Given the description of an element on the screen output the (x, y) to click on. 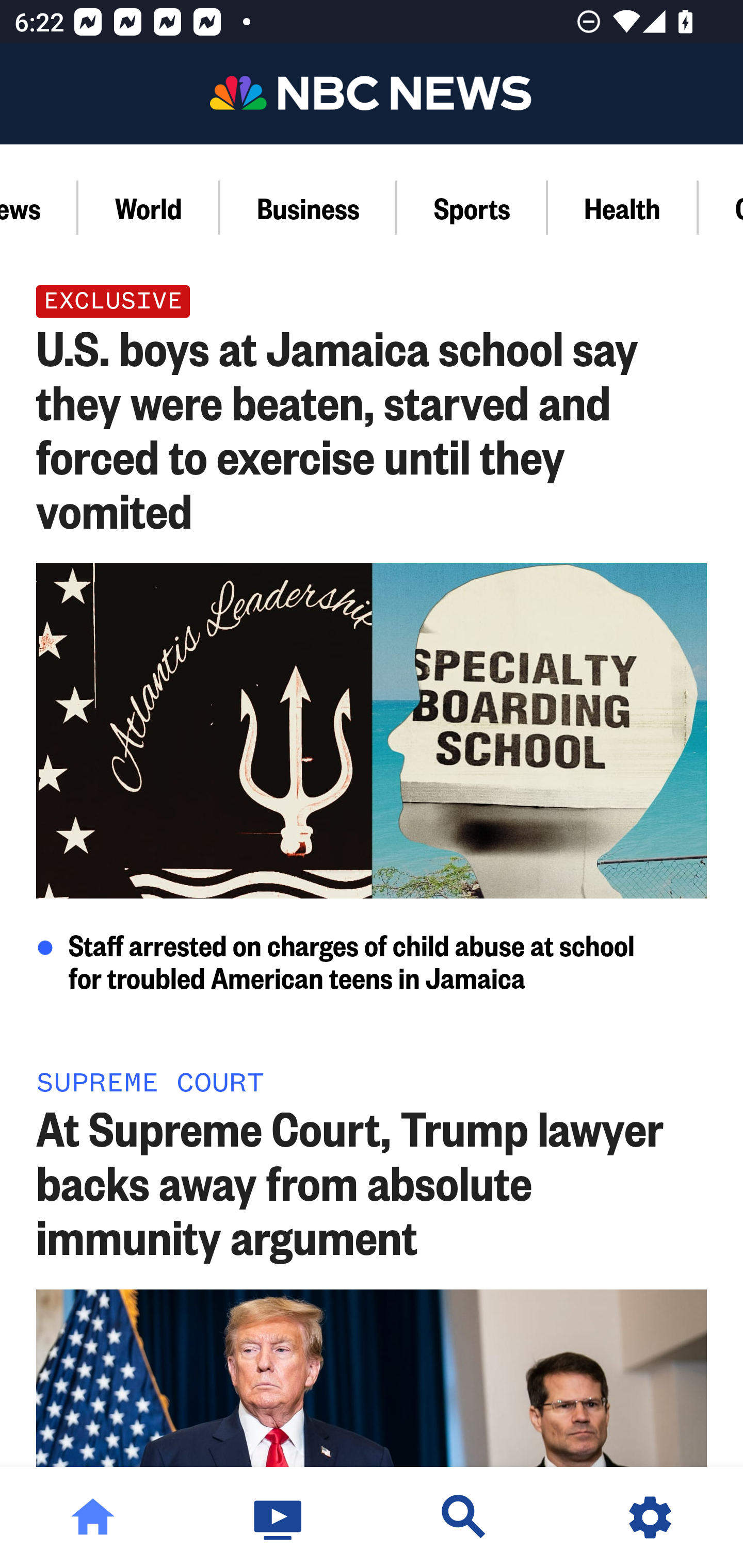
World Section,World (149, 207)
Business Section,Business (308, 207)
Sports Section,Sports (472, 207)
Health Section,Health (623, 207)
Watch (278, 1517)
Discover (464, 1517)
Settings (650, 1517)
